Given the description of an element on the screen output the (x, y) to click on. 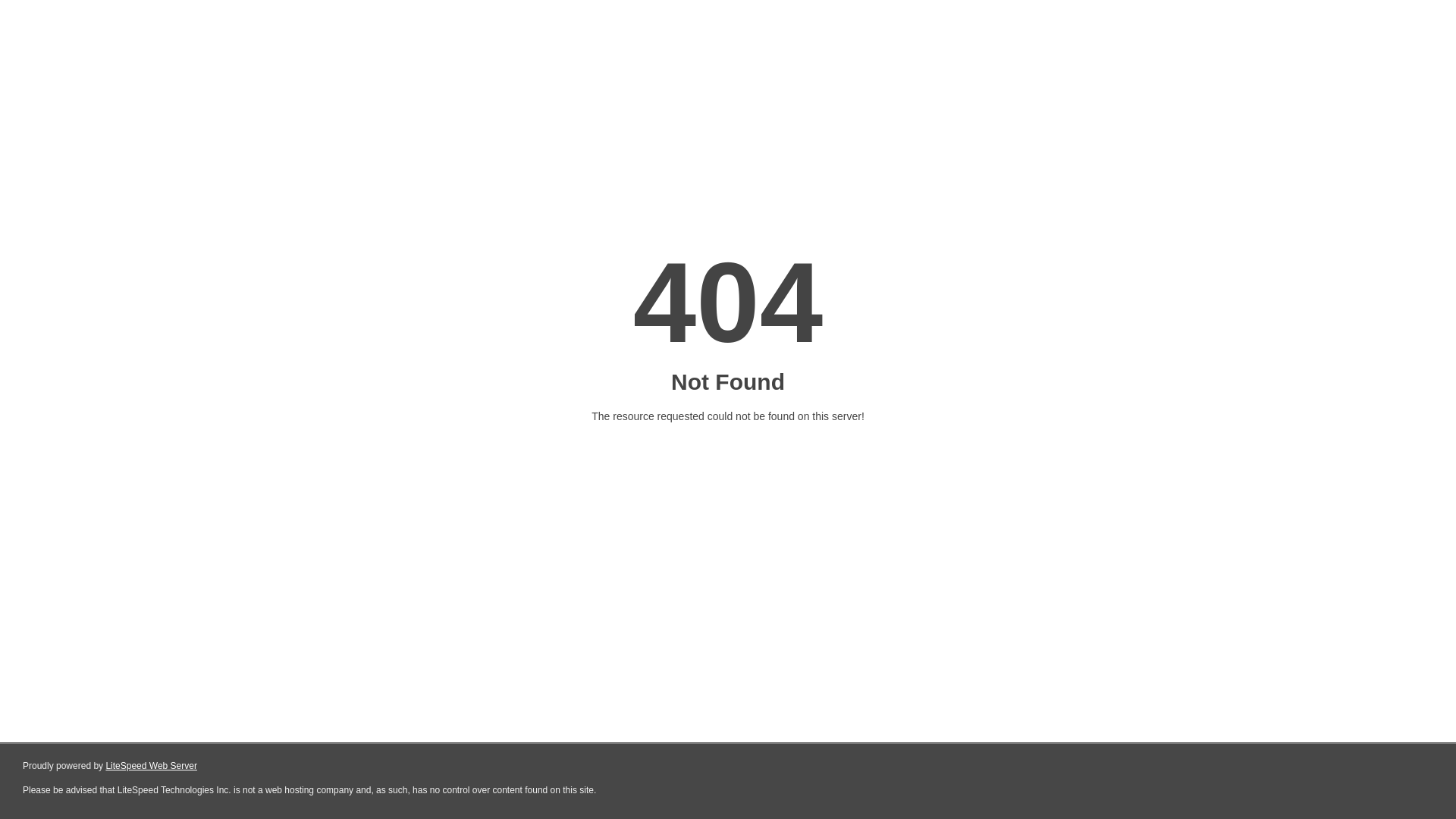
LiteSpeed Web Server Element type: text (151, 765)
